Given the description of an element on the screen output the (x, y) to click on. 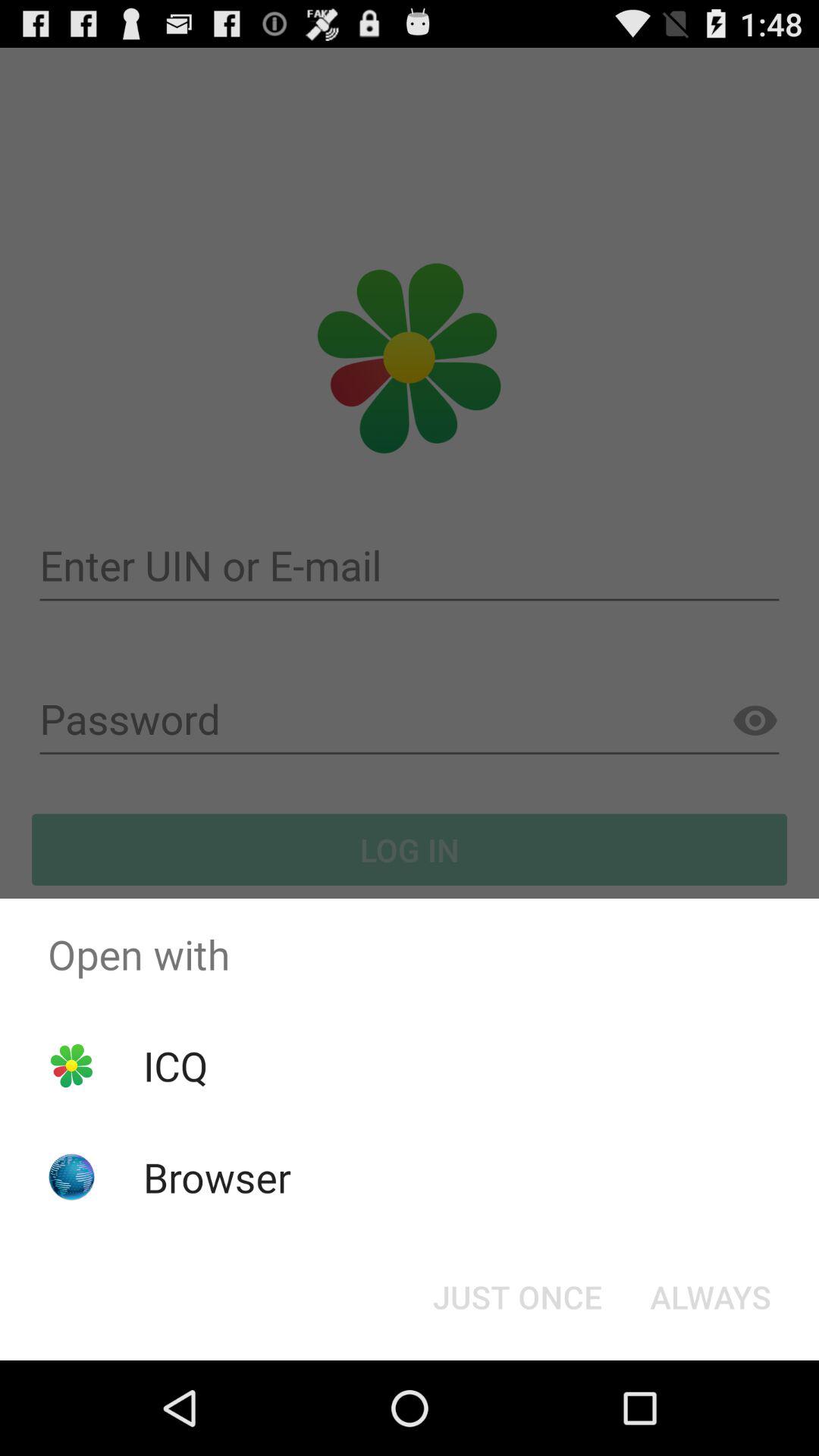
press item below open with icon (175, 1065)
